Given the description of an element on the screen output the (x, y) to click on. 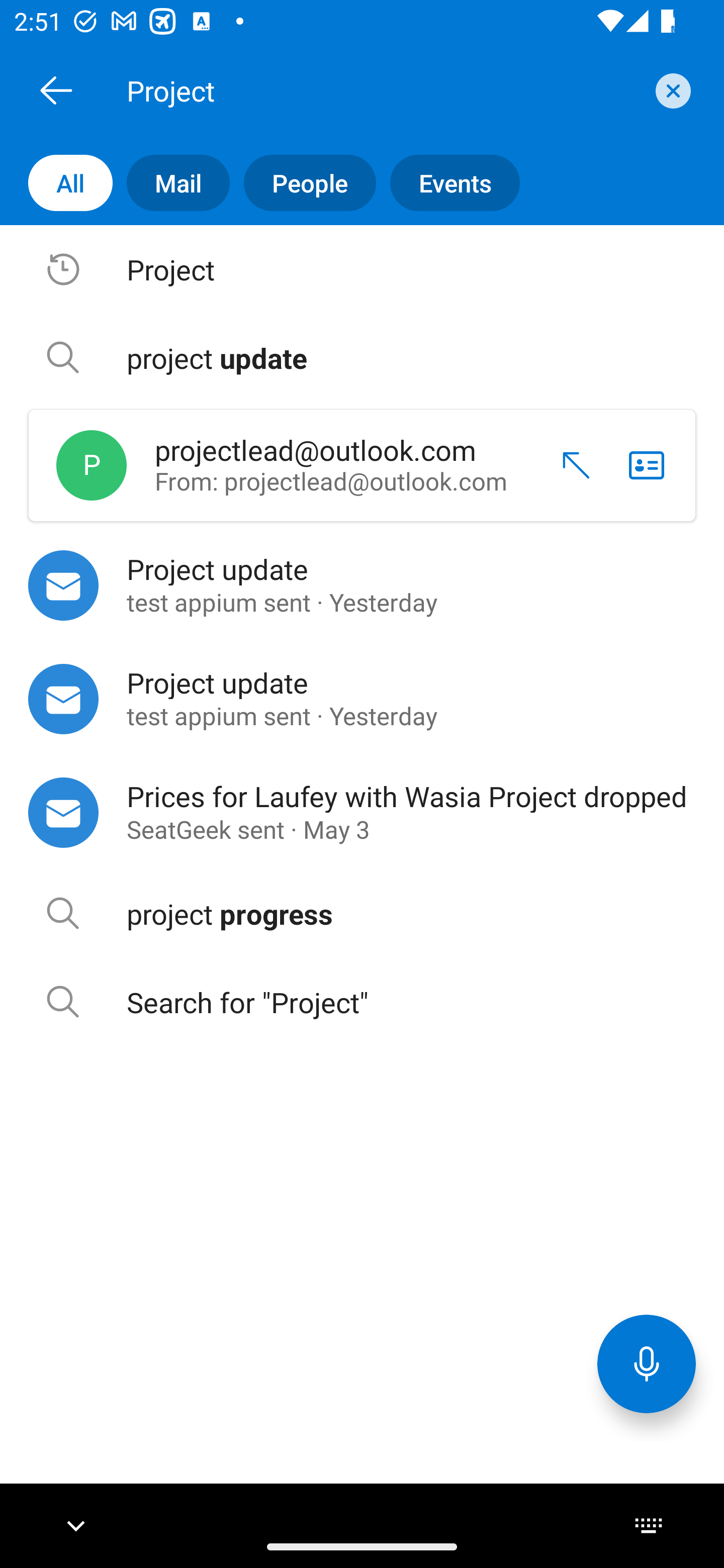
Back (55, 89)
Project (384, 89)
clear search (670, 90)
Mail (170, 183)
People (302, 183)
Events (447, 183)
Suggested search , Text, Project Project (362, 269)
Contact elevation (569, 465)
Contact Details (646, 465)
Voice Assistant (646, 1362)
